Given the description of an element on the screen output the (x, y) to click on. 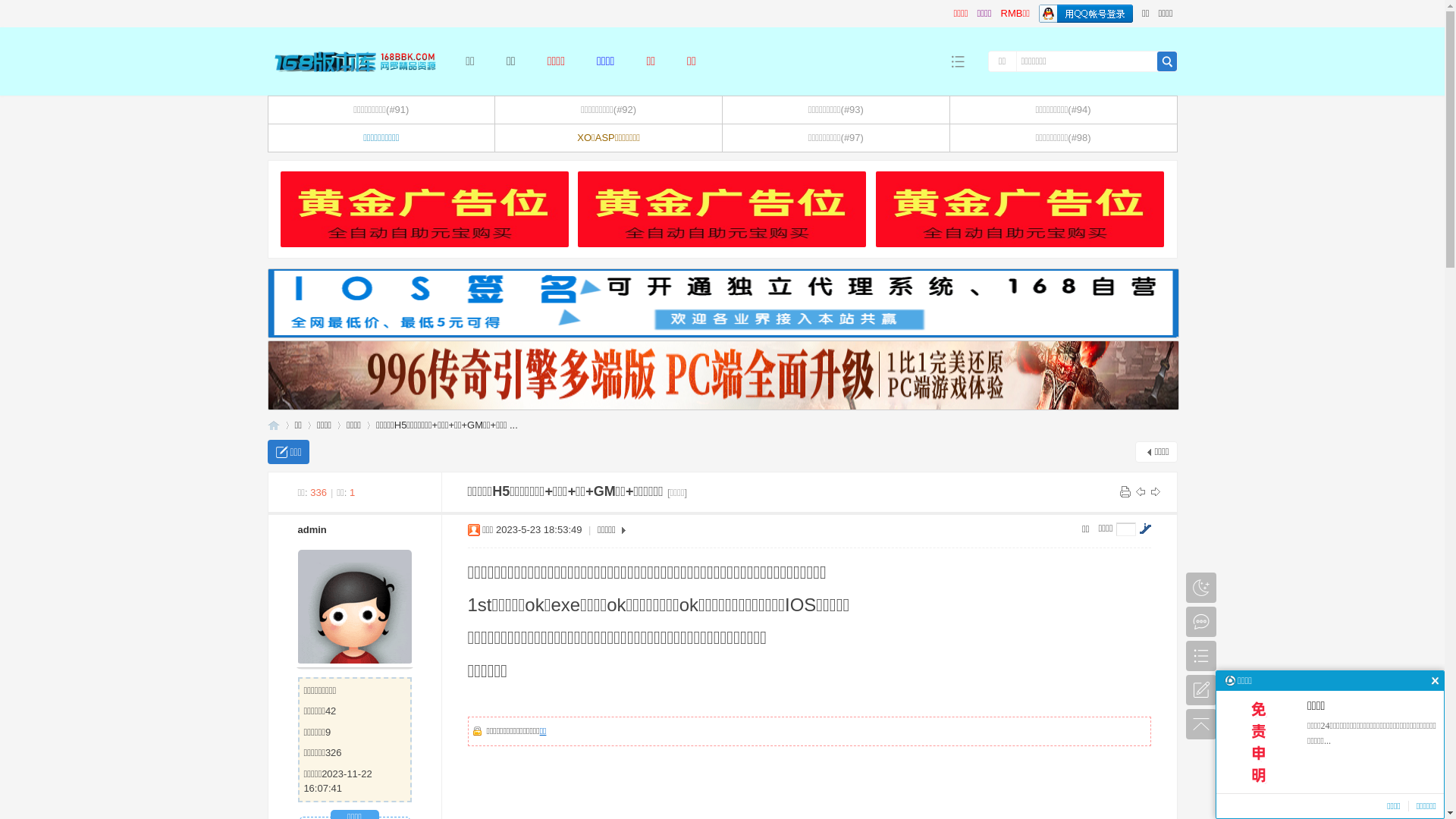
true Element type: text (1166, 61)
X Element type: text (1434, 680)
admin Element type: text (311, 528)
